Given the description of an element on the screen output the (x, y) to click on. 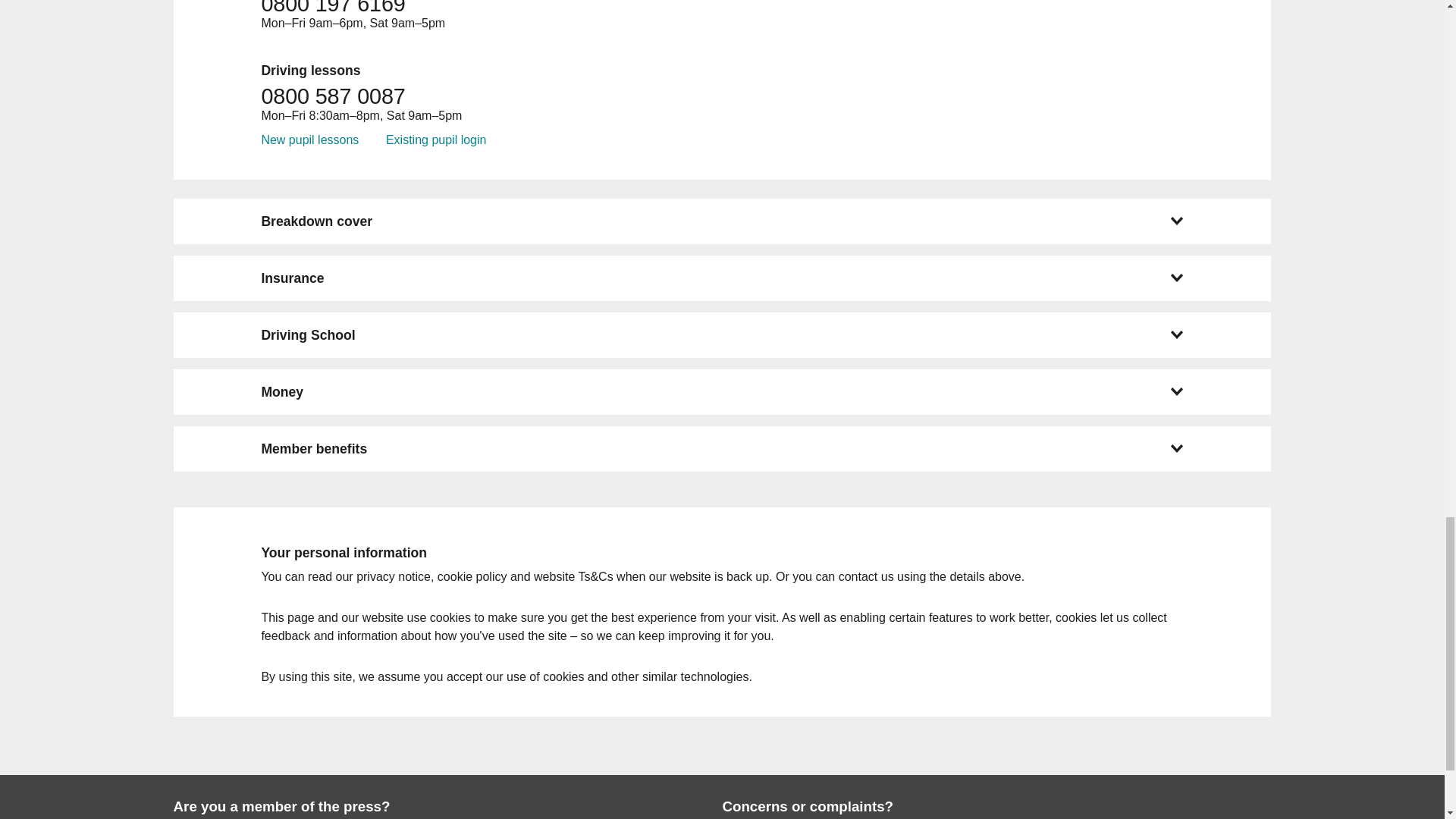
Existing pupil login (435, 140)
New pupil lessons (309, 140)
